Given the description of an element on the screen output the (x, y) to click on. 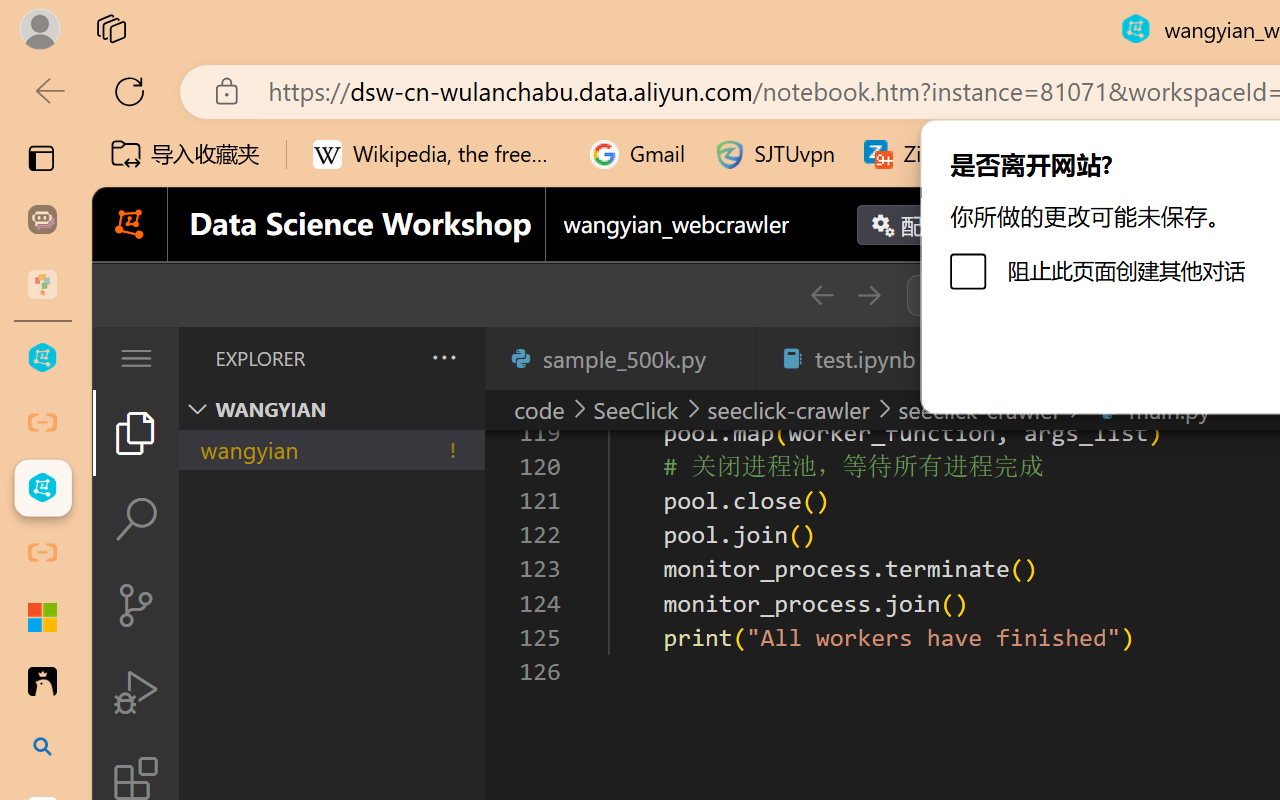
&Cameo (126, 204)
